Given the description of an element on the screen output the (x, y) to click on. 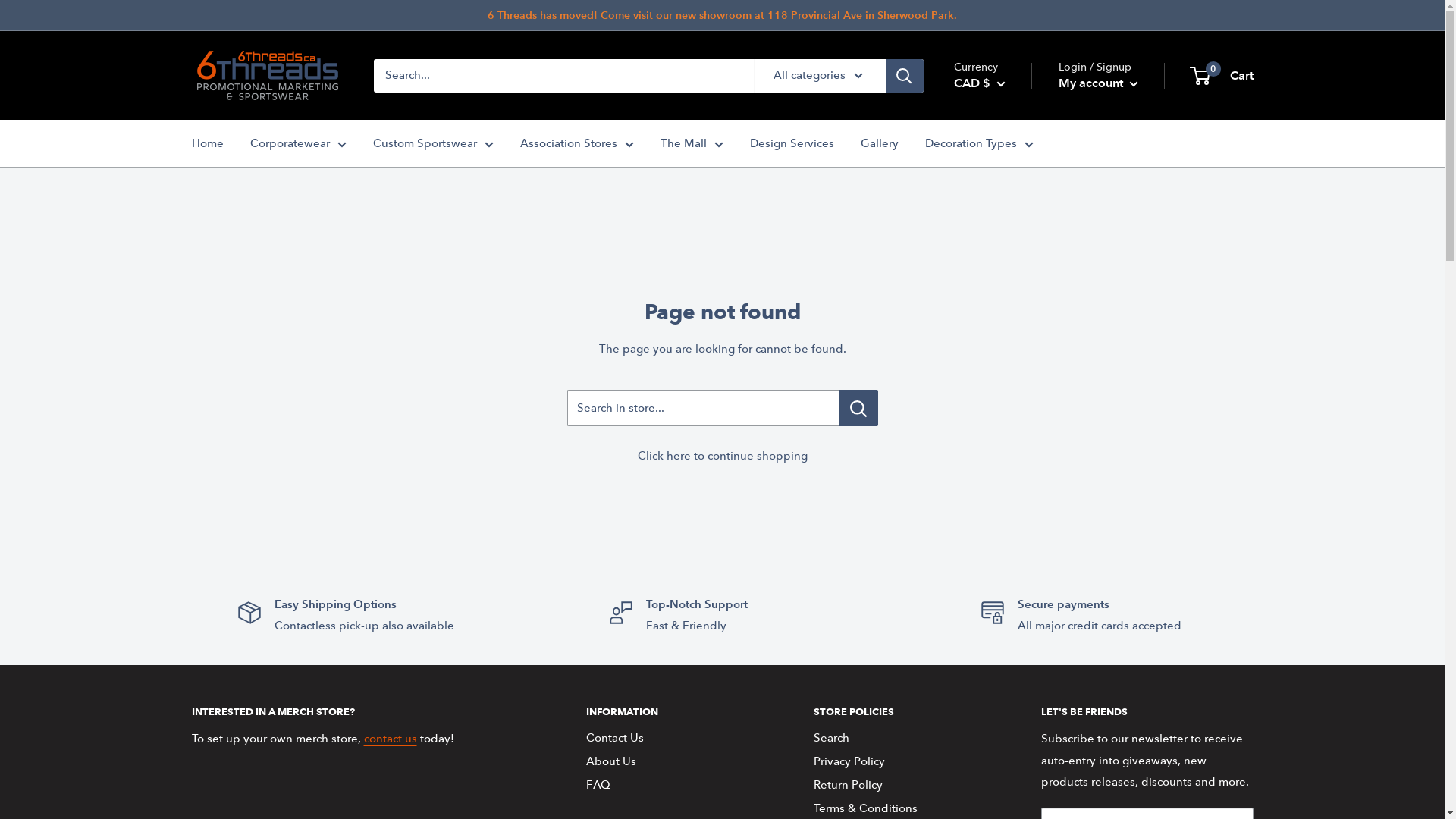
AWG Element type: text (1002, 382)
NGN Element type: text (232, 56)
UYU Element type: text (232, 626)
CAD Element type: text (1002, 645)
0
Cart Element type: text (1221, 75)
Search Element type: text (899, 737)
BZD Element type: text (1002, 623)
Association Stores Element type: text (576, 142)
YER Element type: text (232, 796)
NZD Element type: text (232, 113)
Corporatewear Element type: text (298, 142)
AMD Element type: text (1002, 316)
My account Element type: text (1098, 83)
PEN Element type: text (232, 132)
Design Services Element type: text (791, 142)
ALL Element type: text (1002, 294)
CZK Element type: text (1002, 776)
MWK Element type: text (232, 17)
SGD Element type: text (232, 378)
UZS Element type: text (232, 644)
QAR Element type: text (232, 246)
INTERESTED IN A MERCH STORE? Element type: text (361, 710)
Click here to continue shopping Element type: text (721, 455)
CDF Element type: text (1002, 667)
UGX Element type: text (232, 588)
BND Element type: text (1002, 536)
PGK Element type: text (232, 151)
RON Element type: text (232, 265)
BAM Element type: text (1002, 426)
TTD Element type: text (232, 512)
UAH Element type: text (232, 569)
CHF Element type: text (1002, 689)
NIO Element type: text (232, 75)
DJF Element type: text (1002, 798)
contact us Element type: text (390, 738)
CVE Element type: text (1002, 754)
SHP Element type: text (232, 397)
SLL Element type: text (232, 416)
CNY Element type: text (1002, 710)
PYG Element type: text (232, 227)
AFN Element type: text (1002, 273)
RWF Element type: text (232, 302)
XAF Element type: text (232, 720)
BGN Element type: text (1002, 492)
STD Element type: text (232, 435)
USD Element type: text (232, 607)
AED Element type: text (1002, 251)
SBD Element type: text (232, 340)
TJS Element type: text (232, 474)
Privacy Policy Element type: text (899, 761)
AZN Element type: text (1002, 404)
RSD Element type: text (232, 283)
SEK Element type: text (232, 359)
BIF Element type: text (1002, 514)
TZS Element type: text (232, 550)
BWP Element type: text (1002, 601)
Home Element type: text (206, 142)
SAR Element type: text (232, 321)
PKR Element type: text (232, 189)
XPF Element type: text (232, 777)
MYR Element type: text (232, 36)
VUV Element type: text (232, 682)
ANG Element type: text (1002, 338)
TOP Element type: text (232, 493)
WST Element type: text (232, 701)
NPR Element type: text (232, 94)
THB Element type: text (232, 454)
Contact Us Element type: text (672, 737)
CAD $ Element type: text (979, 83)
XOF Element type: text (232, 758)
VND Element type: text (232, 663)
Custom Sportswear Element type: text (433, 142)
BBD Element type: text (1002, 448)
Gallery Element type: text (878, 142)
INFORMATION Element type: text (672, 710)
BDT Element type: text (1002, 470)
The Mall Element type: text (690, 142)
Return Policy Element type: text (899, 785)
PLN Element type: text (232, 208)
BOB Element type: text (1002, 558)
FAQ Element type: text (672, 785)
STORE POLICIES Element type: text (899, 710)
About Us Element type: text (672, 761)
PHP Element type: text (232, 170)
XCD Element type: text (232, 739)
Decoration Types Element type: text (979, 142)
TWD Element type: text (232, 531)
CRC Element type: text (1002, 732)
AUD Element type: text (1002, 360)
BSD Element type: text (1002, 579)
